Given the description of an element on the screen output the (x, y) to click on. 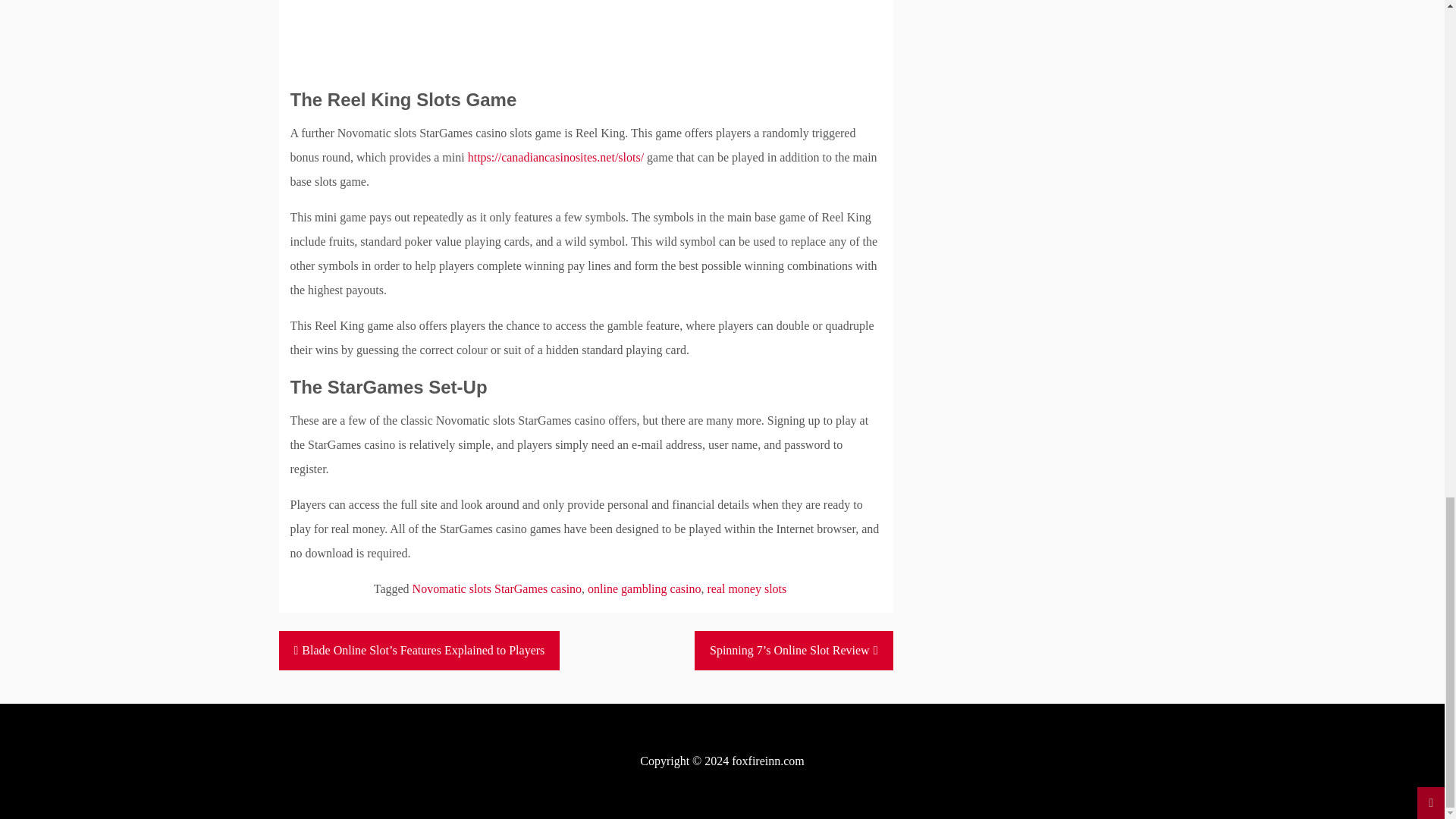
real money slots (746, 588)
Novomatic slots StarGames casino (497, 588)
online gambling casino (644, 588)
